Given the description of an element on the screen output the (x, y) to click on. 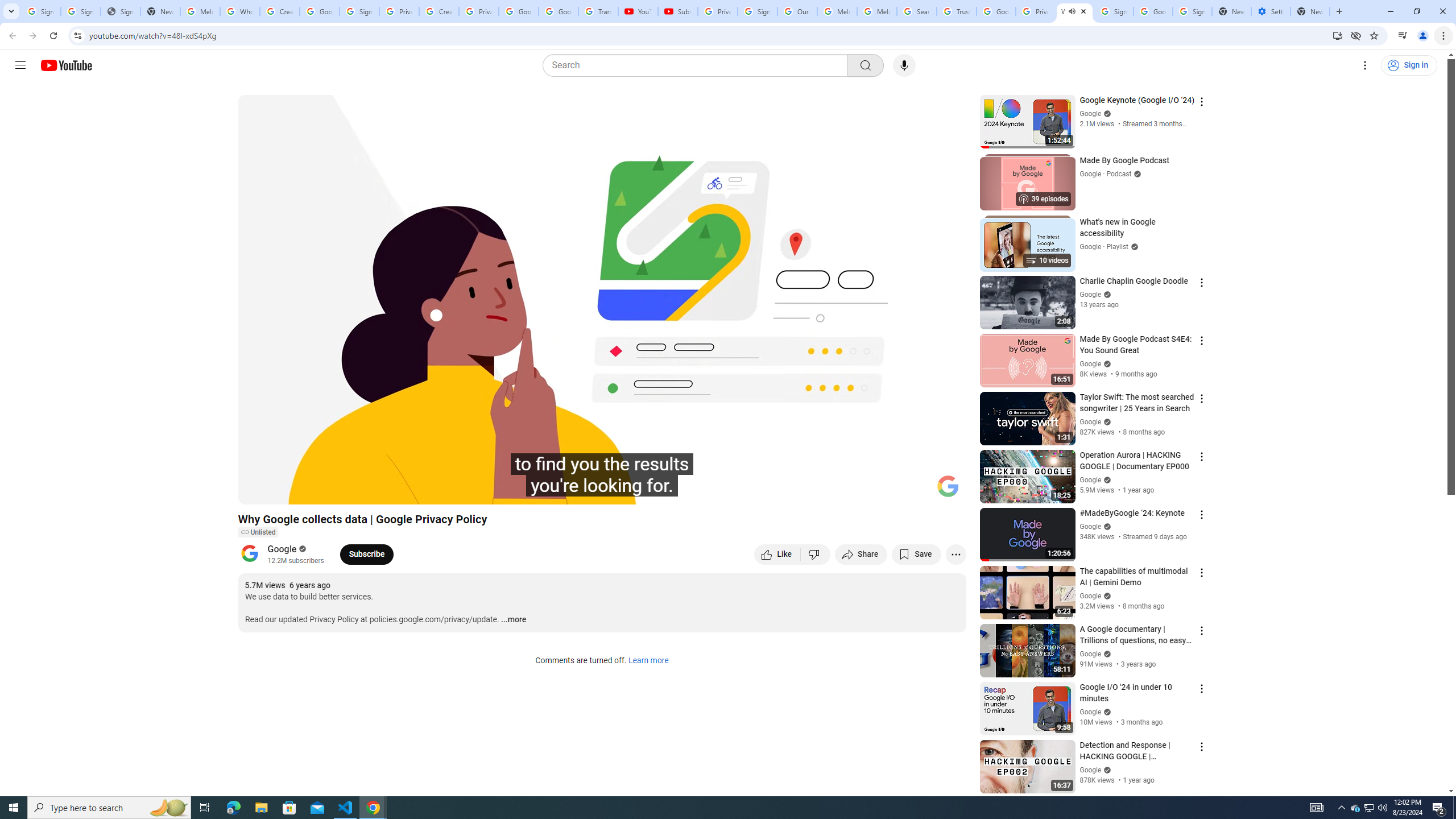
Subscriptions - YouTube (677, 11)
...more (512, 620)
Sign in - Google Accounts (80, 11)
Seek slider (601, 476)
New Tab (1310, 11)
Search our Doodle Library Collection - Google Doodles (916, 11)
Like (777, 554)
Mute (m) (312, 490)
Share (861, 554)
